Given the description of an element on the screen output the (x, y) to click on. 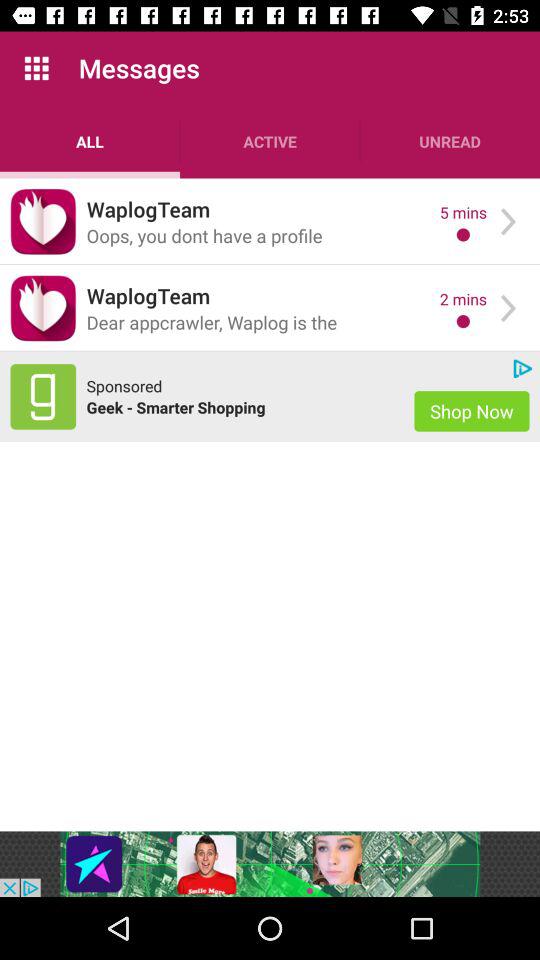
favorite (43, 221)
